Given the description of an element on the screen output the (x, y) to click on. 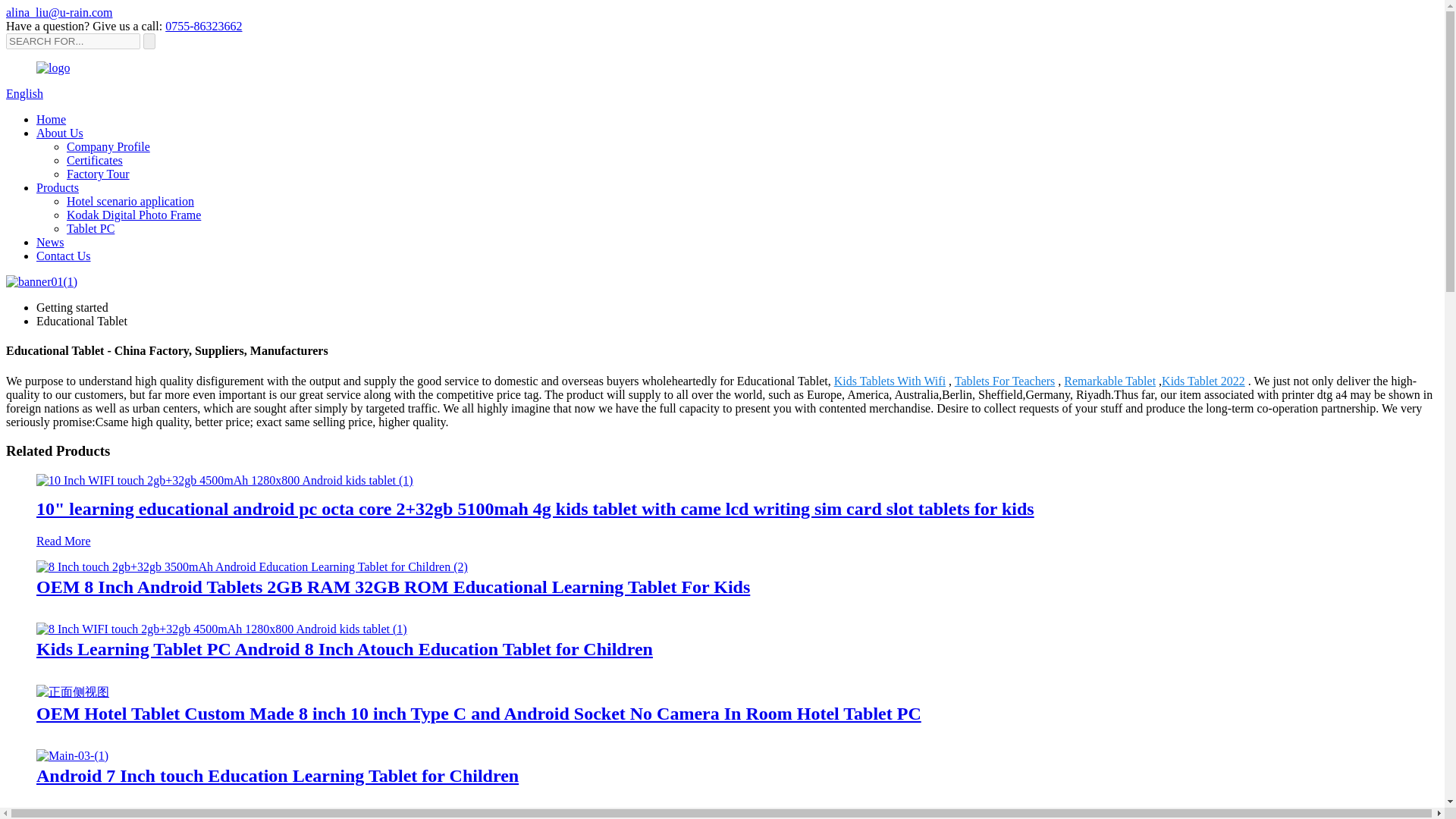
Android 7 Inch touch Education Learning Tablet for Children (277, 775)
Products (57, 187)
Remarkable Tablet (1110, 380)
English (24, 92)
Kids Tablet 2022 (1202, 380)
Contact Us (63, 255)
Educational Tablet (82, 320)
Read More (63, 540)
